Given the description of an element on the screen output the (x, y) to click on. 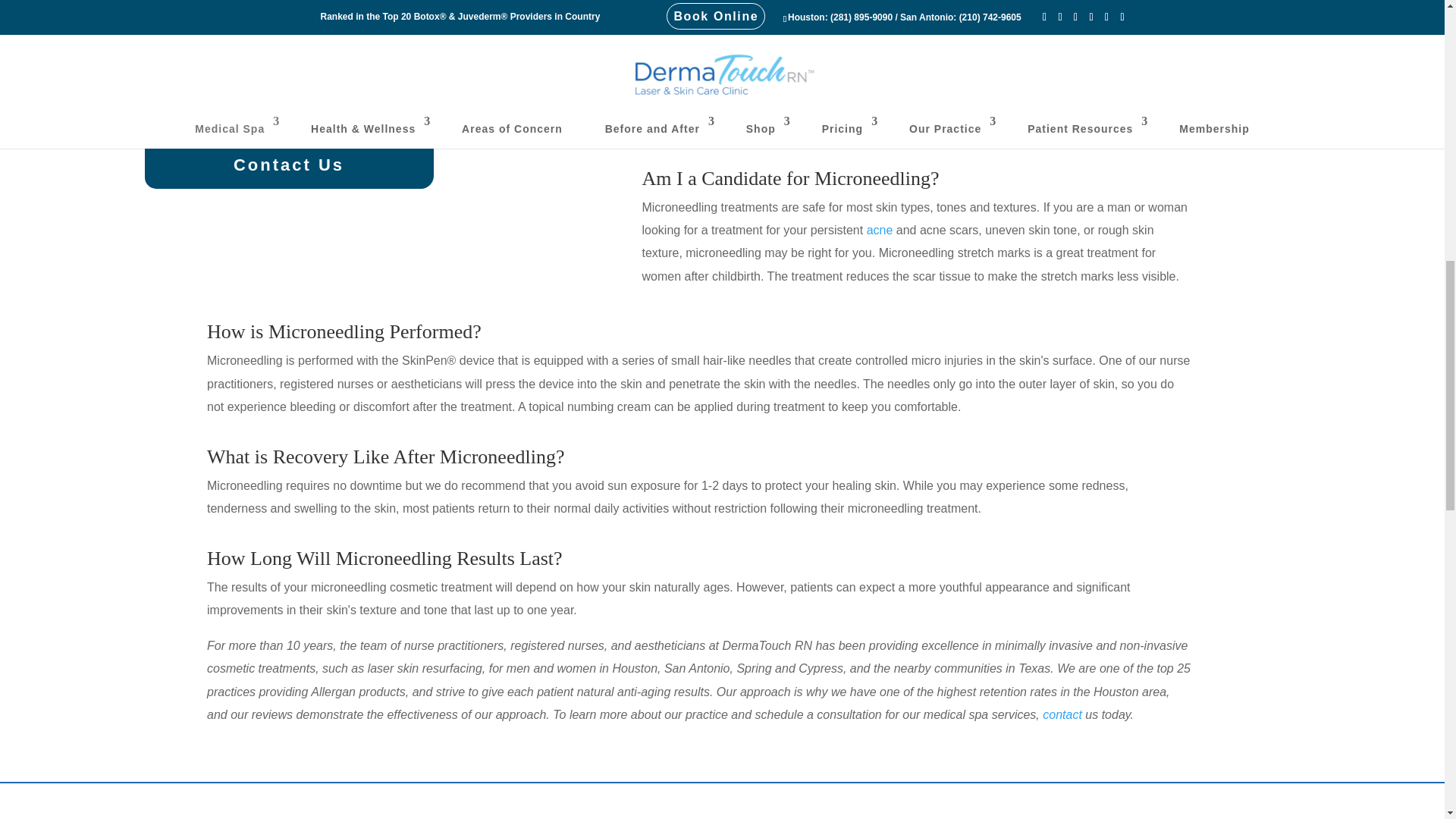
DermaTouch RN - Contact Form (722, 811)
